Given the description of an element on the screen output the (x, y) to click on. 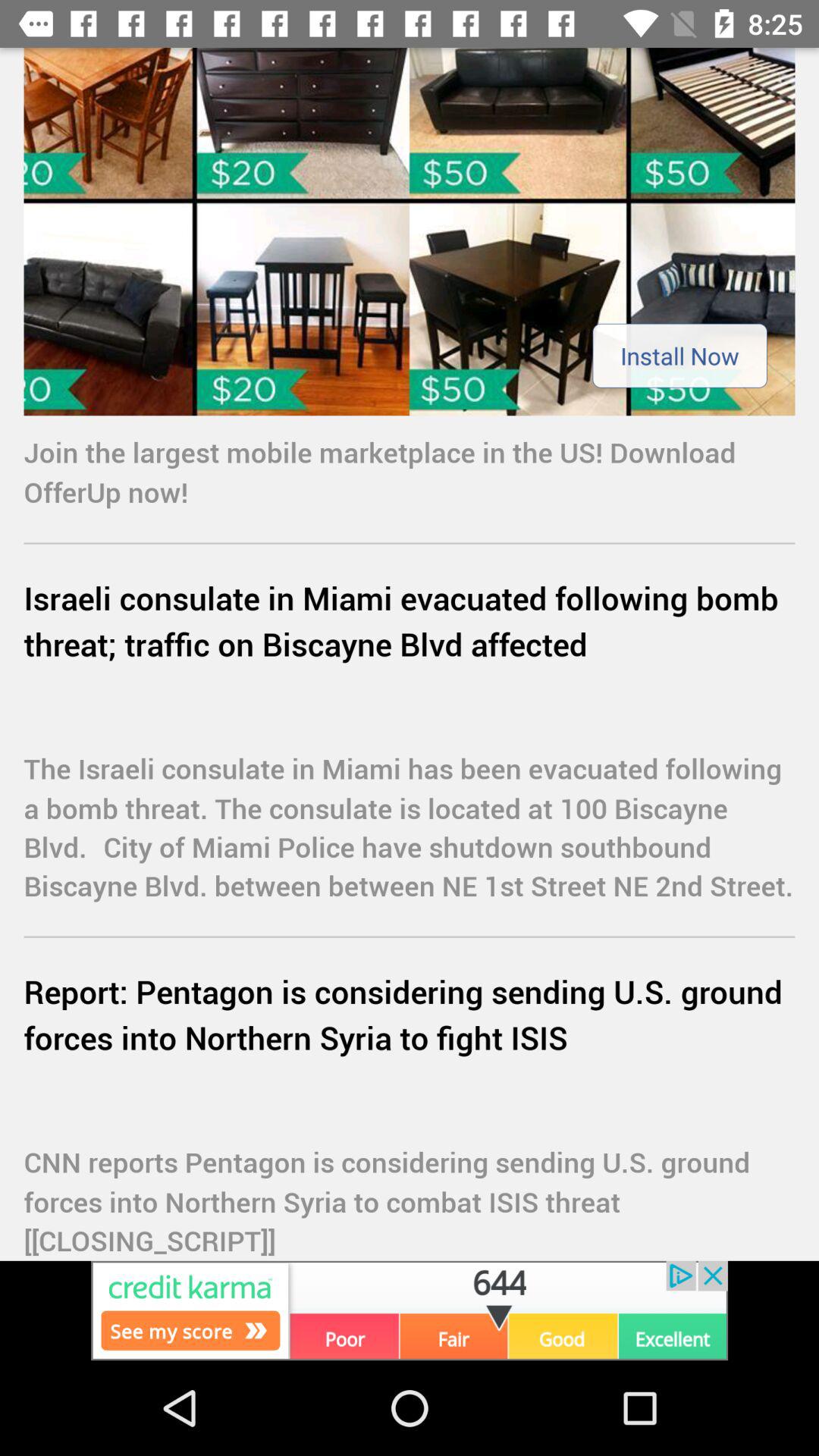
advertisement link (409, 231)
